Given the description of an element on the screen output the (x, y) to click on. 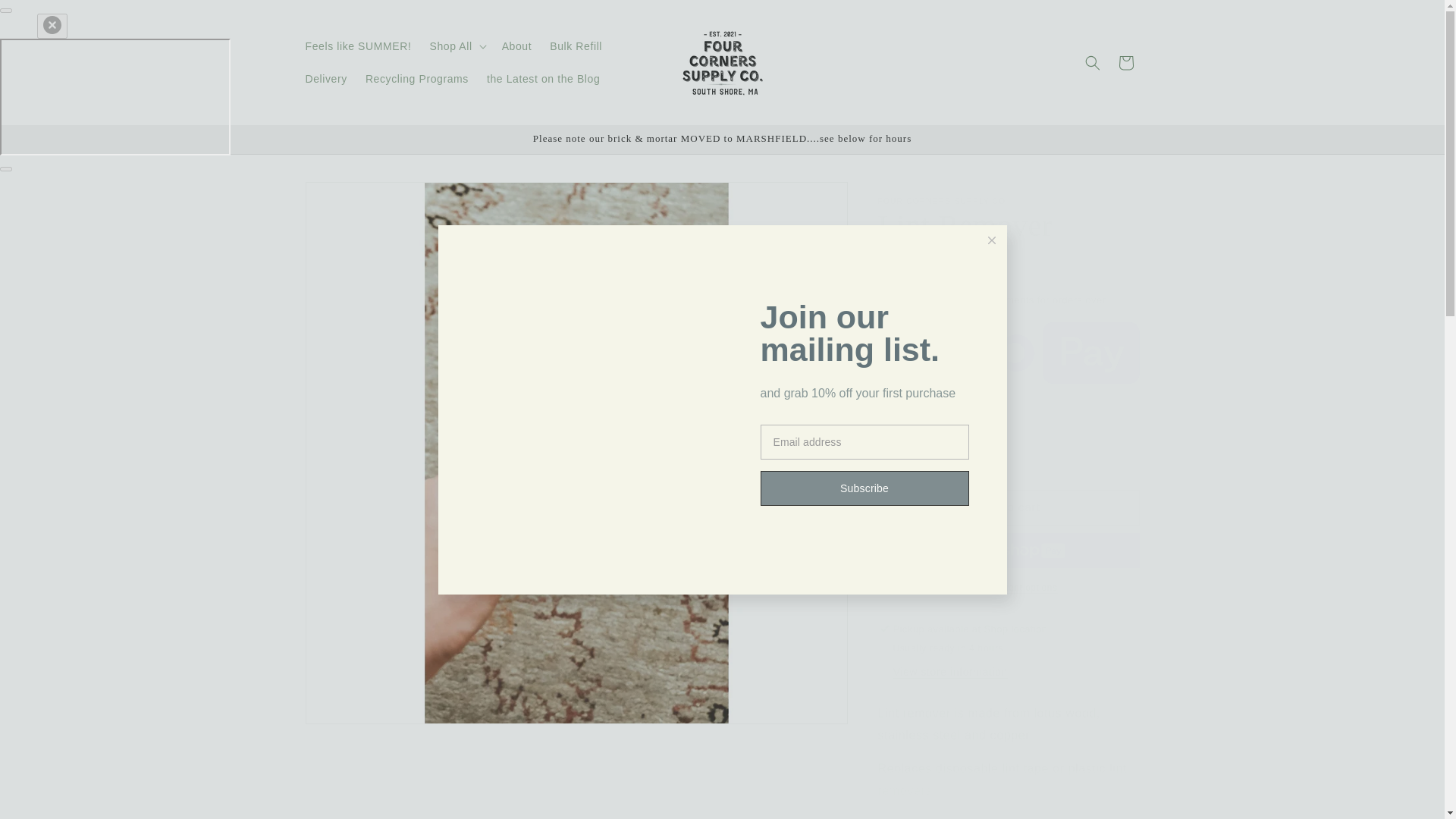
Skip to content (45, 17)
Feels like SUMMER! (357, 46)
1 (931, 452)
